Given the description of an element on the screen output the (x, y) to click on. 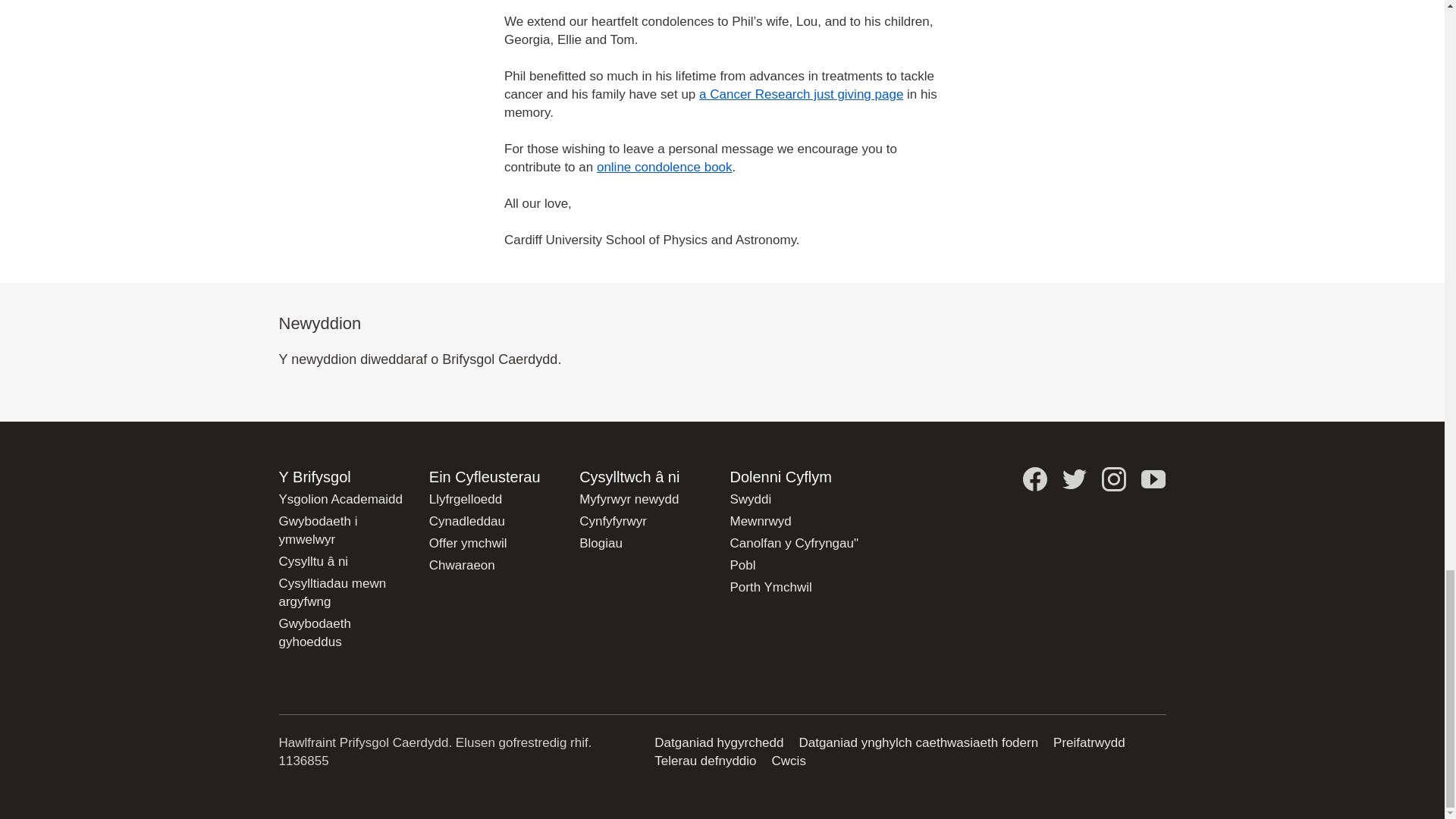
facebook (1034, 478)
instagram (1113, 478)
Youtube (1153, 478)
twitter no background icon (1074, 478)
